Given the description of an element on the screen output the (x, y) to click on. 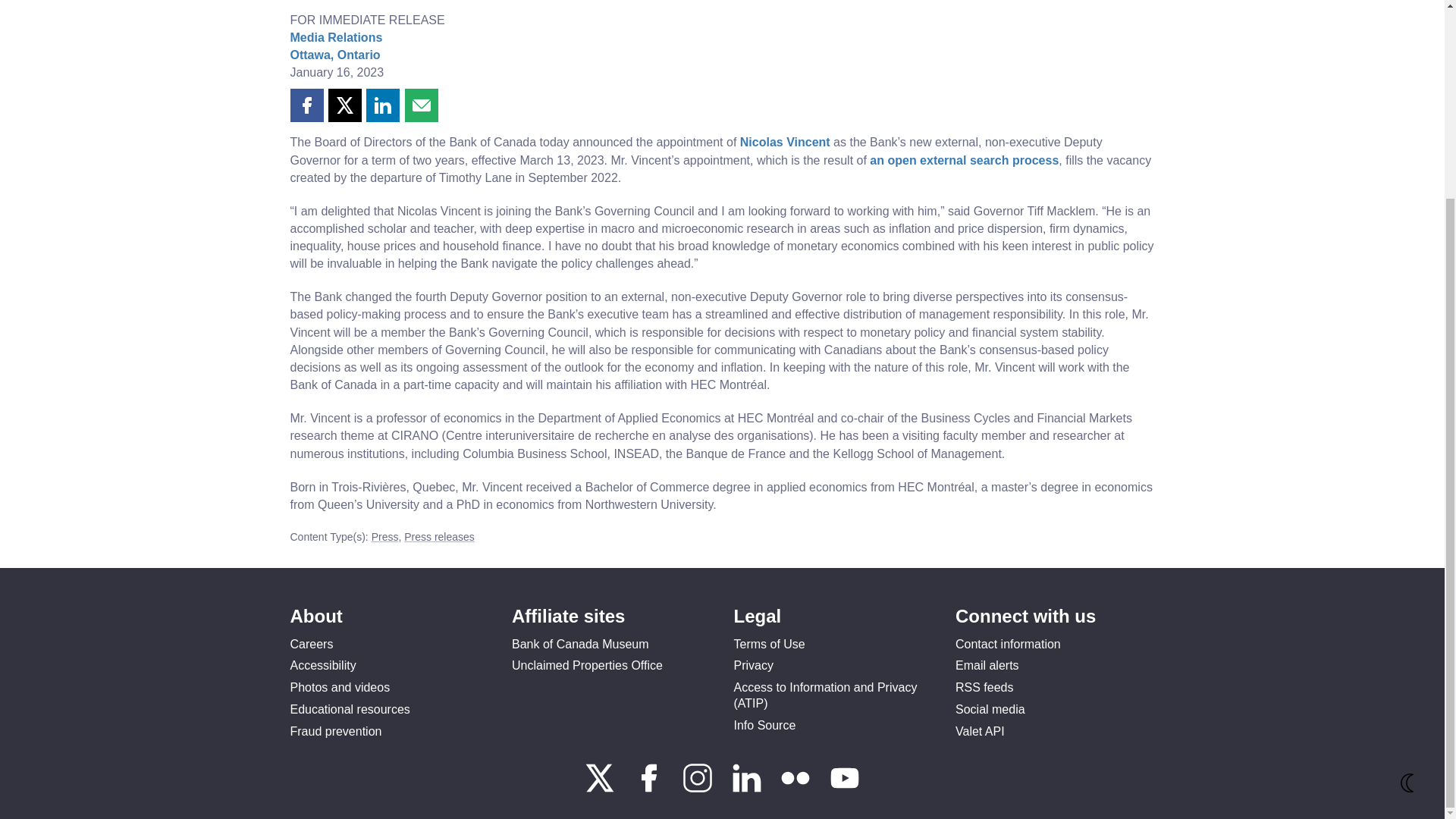
Connect with us on Facebook (650, 788)
Connect with us on LinkedIn (748, 788)
Share this page on LinkedIn (382, 105)
Connect with us on X (601, 788)
Share this page by email (421, 105)
Share this page on Facebook (306, 105)
Connect with us on Instagram (699, 788)
Share this page on X (345, 105)
